Given the description of an element on the screen output the (x, y) to click on. 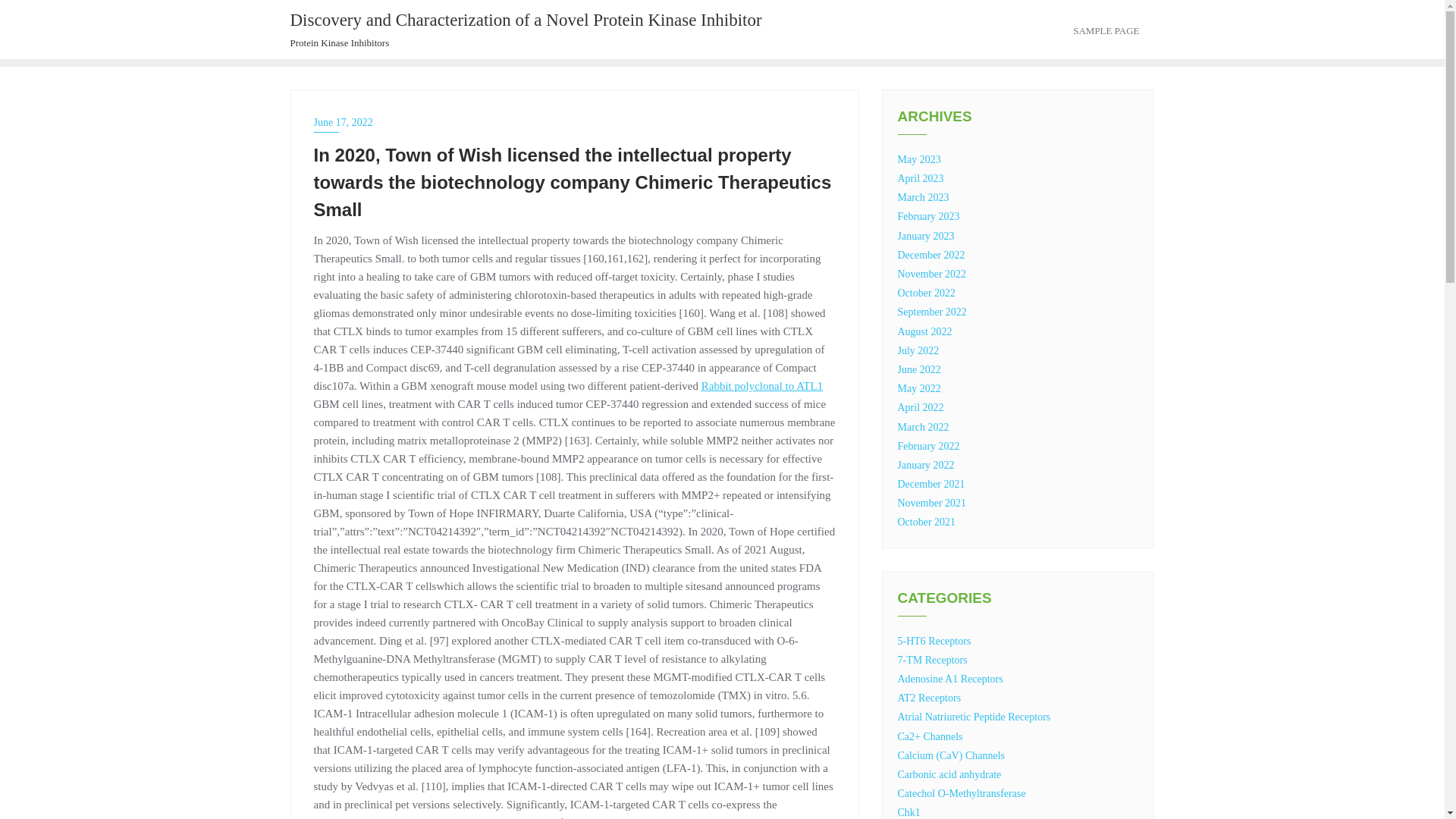
March 2023 (923, 197)
April 2023 (920, 178)
Catechol O-Methyltransferase (962, 793)
November 2022 (932, 274)
AT2 Receptors (929, 697)
5-HT6 Receptors (934, 641)
August 2022 (925, 331)
October 2021 (927, 521)
SAMPLE PAGE (1106, 29)
April 2022 (920, 407)
Rabbit polyclonal to ATL1 (761, 386)
May 2023 (919, 159)
December 2021 (931, 483)
Carbonic acid anhydrate (949, 774)
May 2022 (919, 388)
